Given the description of an element on the screen output the (x, y) to click on. 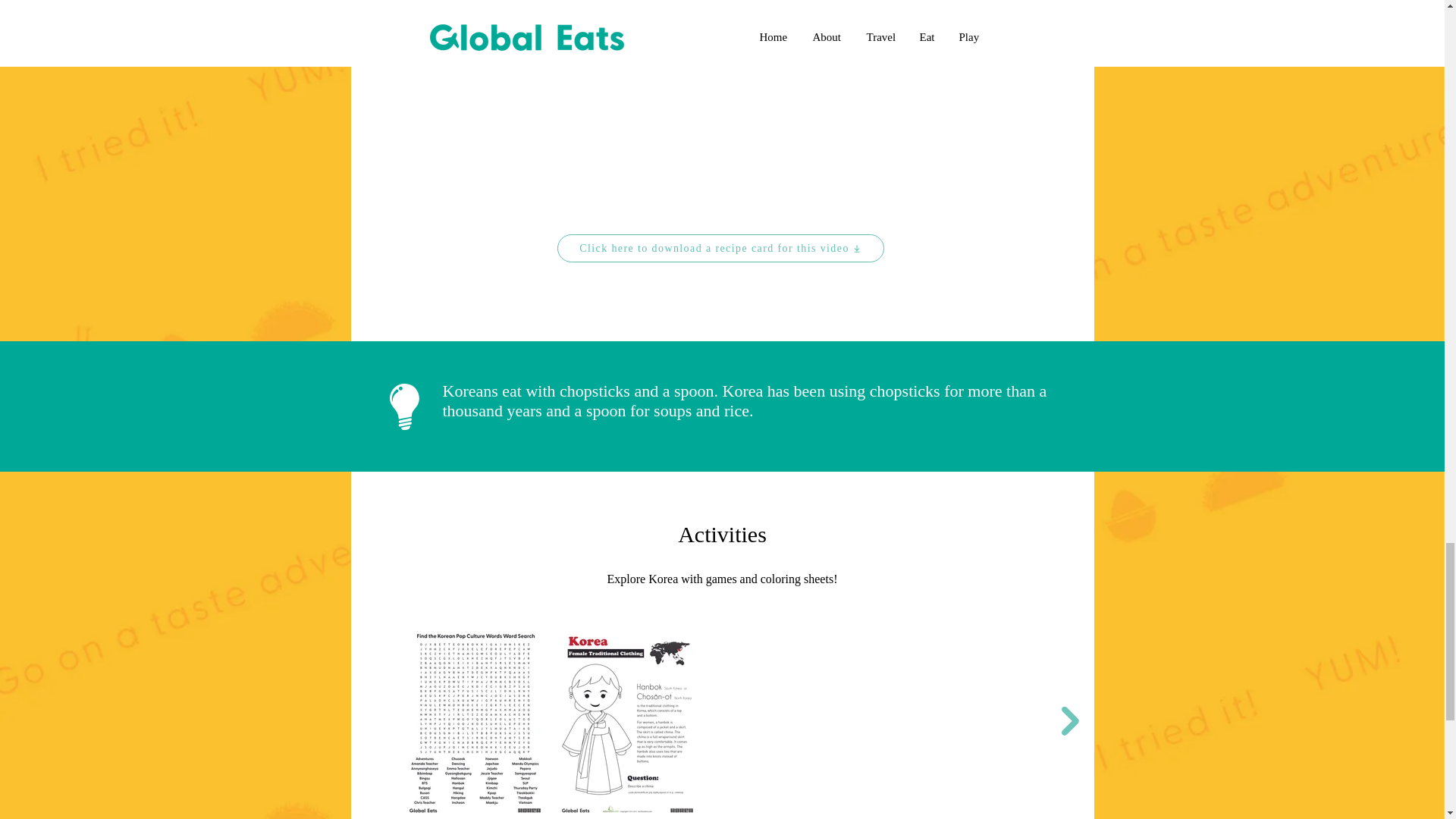
Click here to download a recipe card for this video (719, 248)
